Given the description of an element on the screen output the (x, y) to click on. 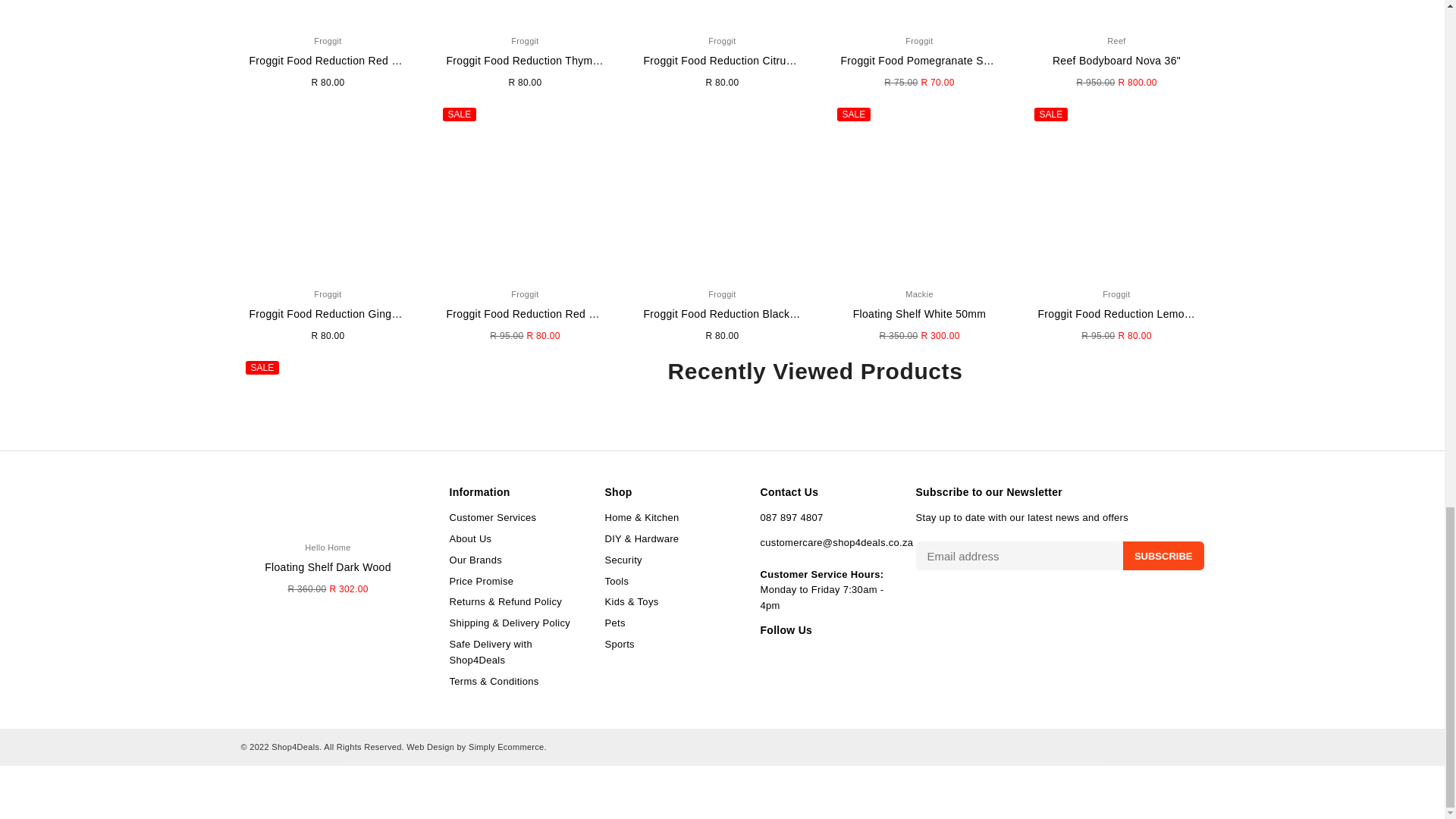
Shop4Deals on Facebook (764, 656)
